Given the description of an element on the screen output the (x, y) to click on. 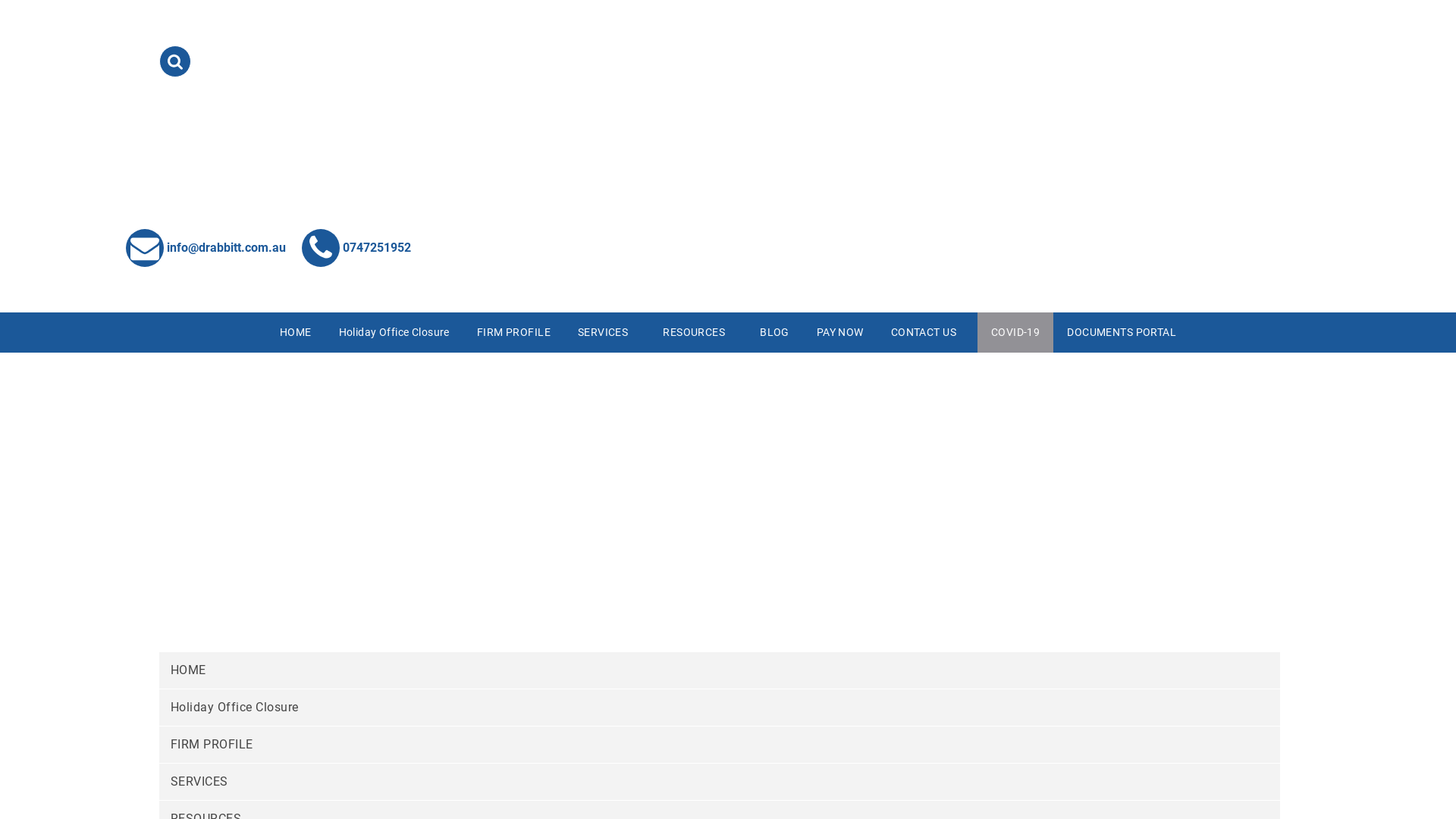
COVID-19 Element type: text (1015, 332)
HOME Element type: text (295, 332)
0747251952 Element type: text (356, 246)
RESOURCES Element type: text (697, 332)
HOME Element type: text (719, 670)
BLOG Element type: text (774, 332)
SERVICES Element type: text (606, 332)
PAY NOW Element type: text (840, 332)
FIRM PROFILE Element type: text (719, 744)
CONTACT US Element type: text (927, 332)
Holiday Office Closure Element type: text (394, 332)
Holiday Office Closure Element type: text (719, 707)
DOCUMENTS PORTAL Element type: text (1121, 332)
SERVICES Element type: text (719, 781)
info@drabbitt.com.au Element type: text (205, 246)
FIRM PROFILE Element type: text (513, 332)
